Given the description of an element on the screen output the (x, y) to click on. 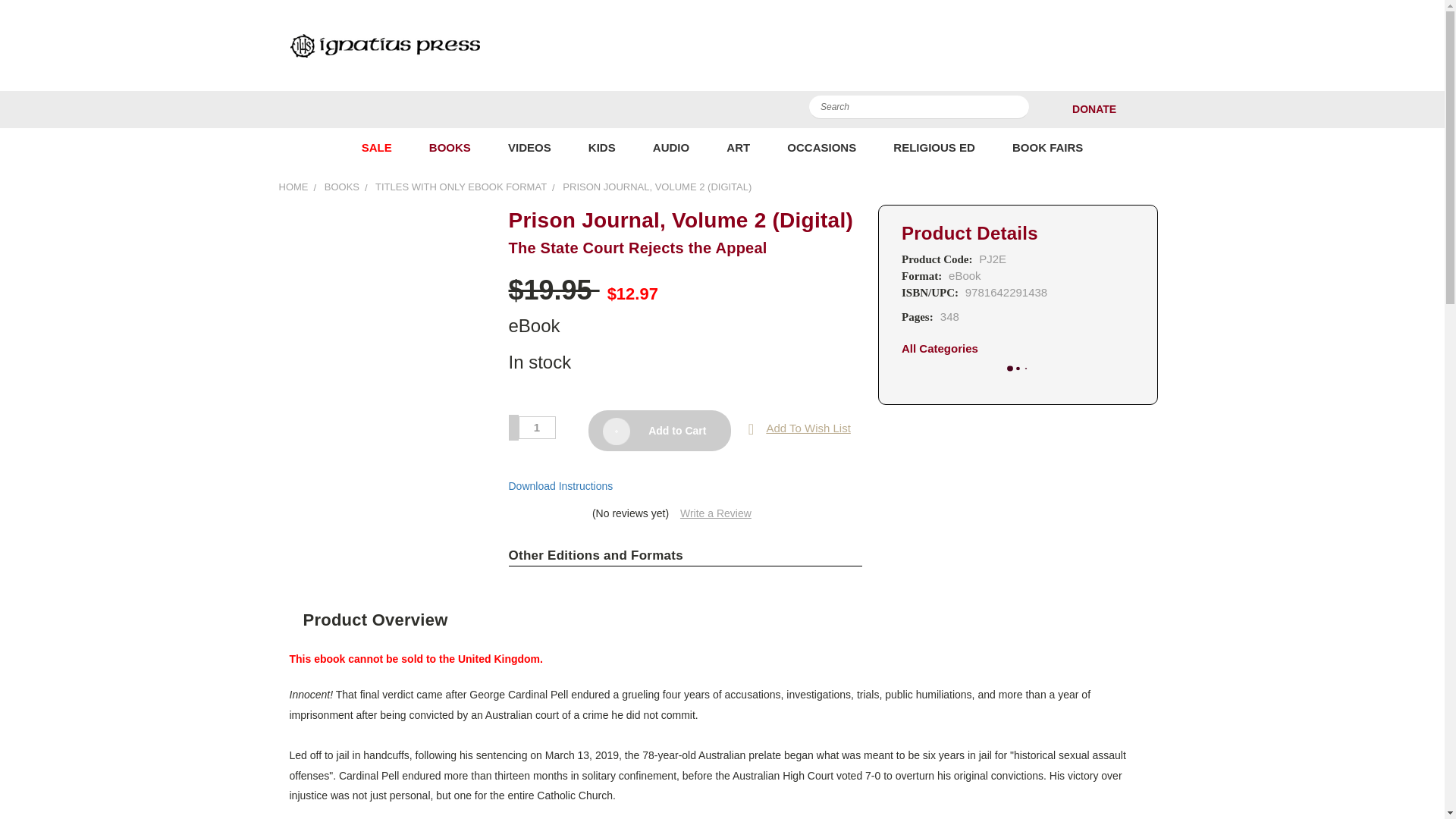
Submit Search (1017, 109)
Add to Cart (659, 430)
1 (537, 427)
Ignatius Press (384, 44)
Cart (1161, 109)
User Toolbox (1135, 109)
